Given the description of an element on the screen output the (x, y) to click on. 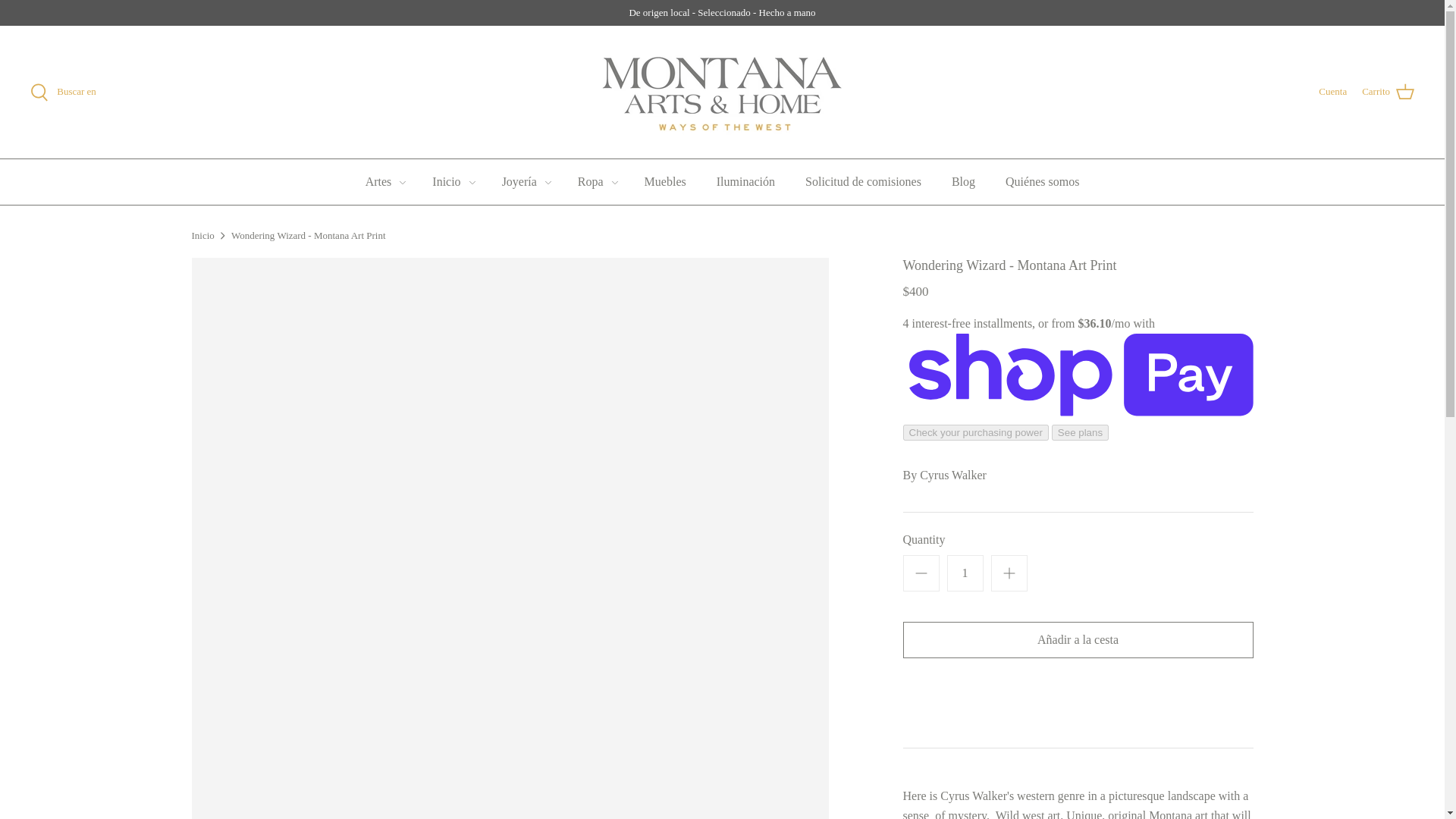
Artes (379, 181)
Carrito (1387, 92)
1 (964, 573)
Montana Arte y Hogar (722, 91)
Plus (1007, 573)
Cuenta (1332, 91)
Minus (920, 573)
Buscar en (63, 92)
